Given the description of an element on the screen output the (x, y) to click on. 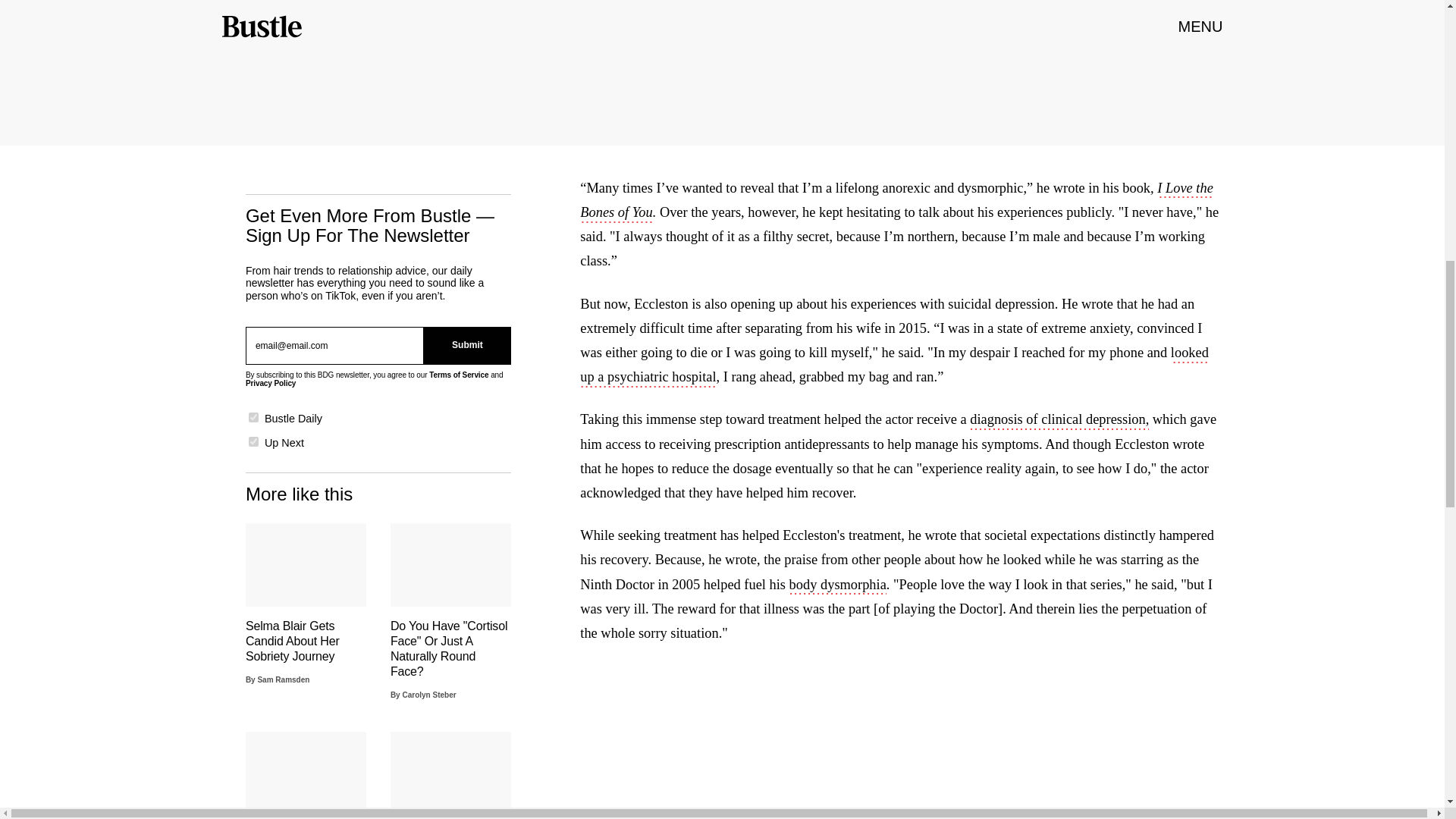
diagnosis of clinical depression, (1058, 420)
body dysmorphia (837, 586)
Submit (467, 345)
Terms of Service (458, 375)
I Love the Bones of You (895, 201)
Privacy Policy (270, 383)
looked up a psychiatric hospital (893, 365)
